Given the description of an element on the screen output the (x, y) to click on. 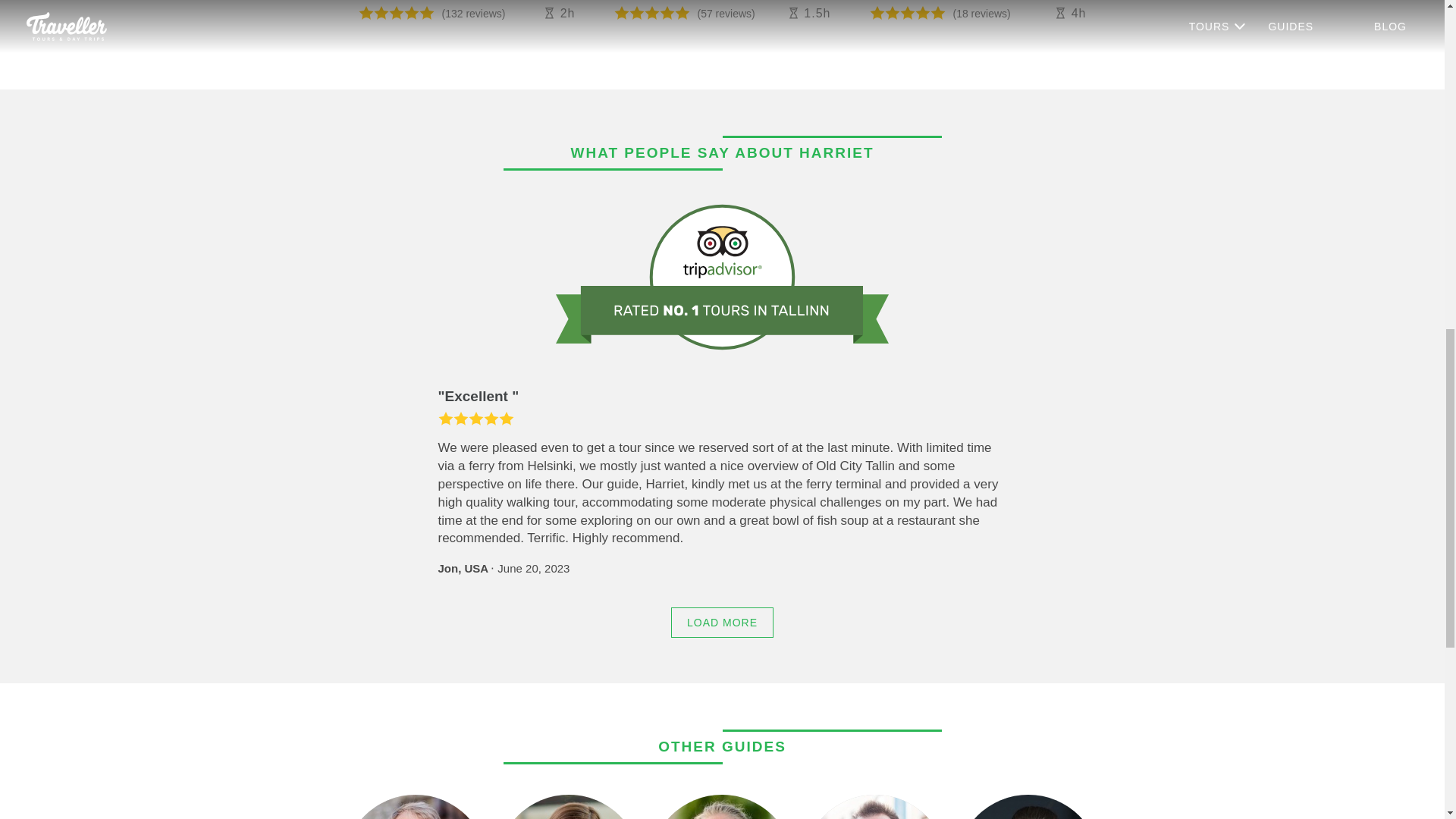
Marii (568, 806)
LOAD MORE (722, 622)
Loviise (1027, 806)
Kert (874, 806)
Kalev (414, 806)
Marii (568, 806)
Loviise (1027, 806)
Kert (874, 806)
Kalev (414, 806)
